Given the description of an element on the screen output the (x, y) to click on. 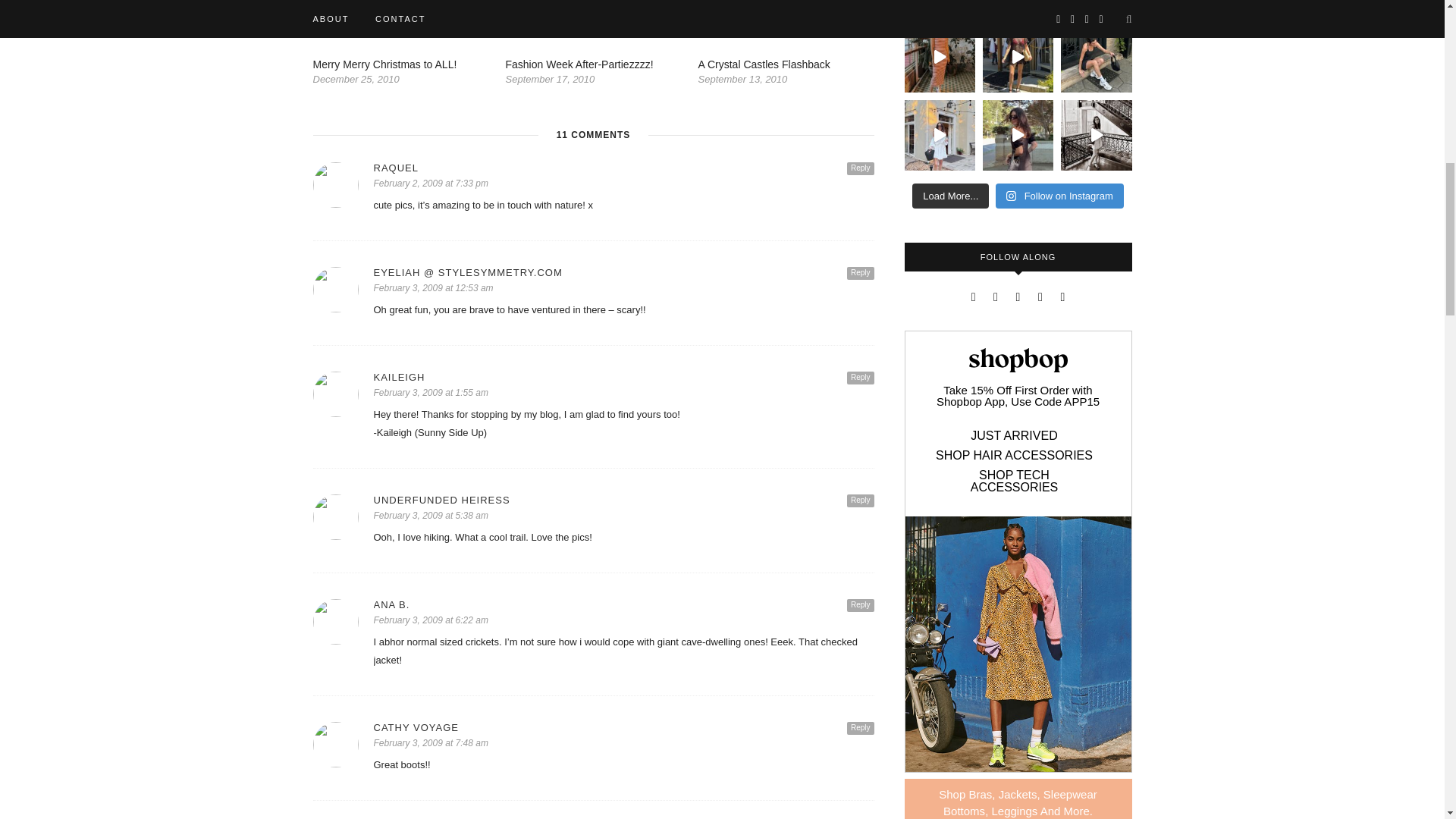
CATHY VOYAGE (622, 727)
Reply (861, 604)
Merry Merry Christmas to ALL! (385, 64)
UNDERFUNDED HEIRESS (622, 500)
KAILEIGH (622, 377)
A Crystal Castles Flashback (763, 64)
Reply (861, 168)
Reply (861, 273)
Reply (861, 727)
Reply (861, 500)
RAQUEL (622, 167)
ANA B. (622, 604)
Fashion Week After-Partiezzzz! (578, 64)
Reply (861, 377)
